Given the description of an element on the screen output the (x, y) to click on. 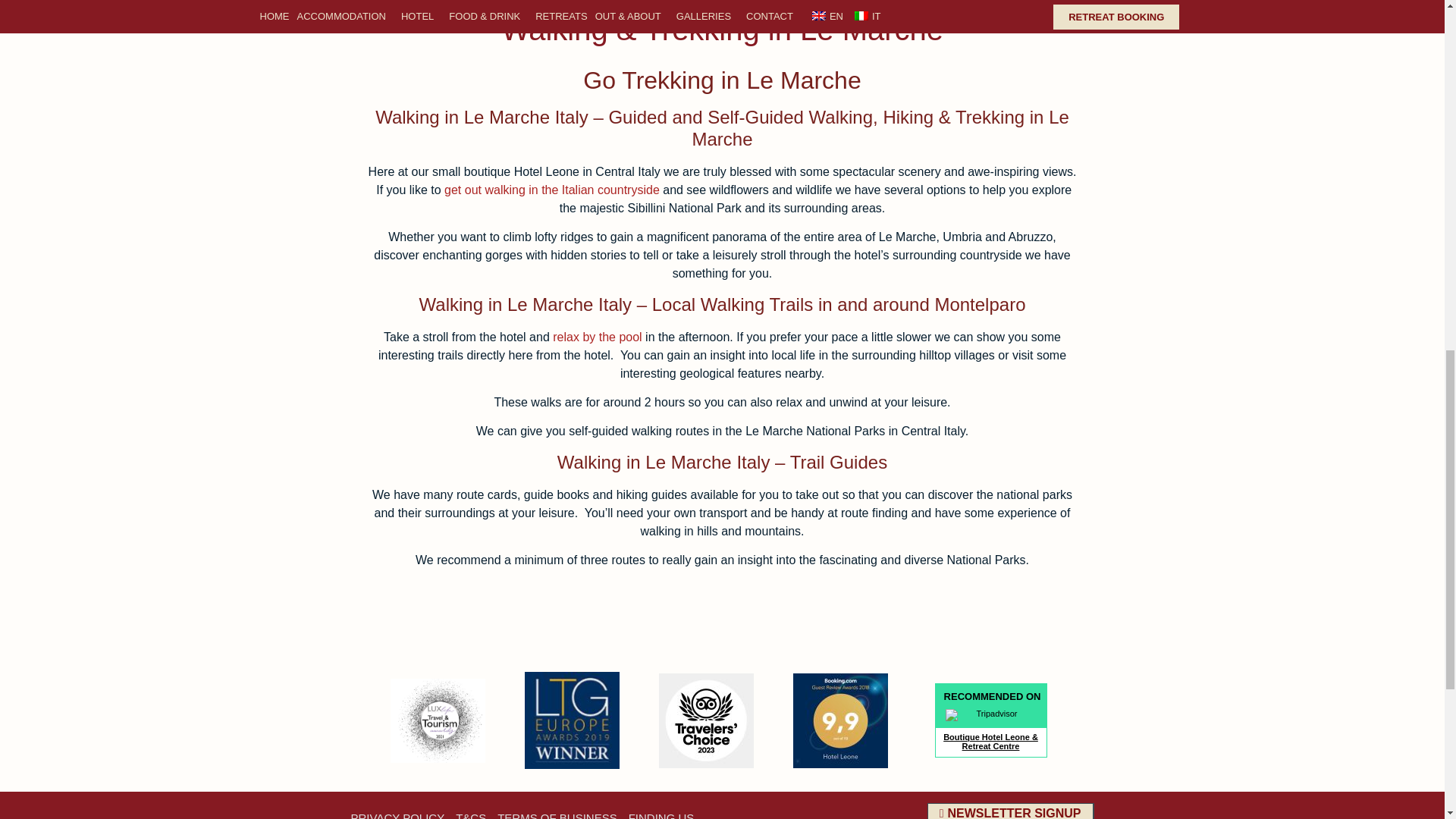
Europe-LTG (572, 720)
booking-com-award (840, 720)
2023 Best 10 Trails, Walks, and Paths in Marche (551, 189)
Hotel Pool (597, 336)
